Given the description of an element on the screen output the (x, y) to click on. 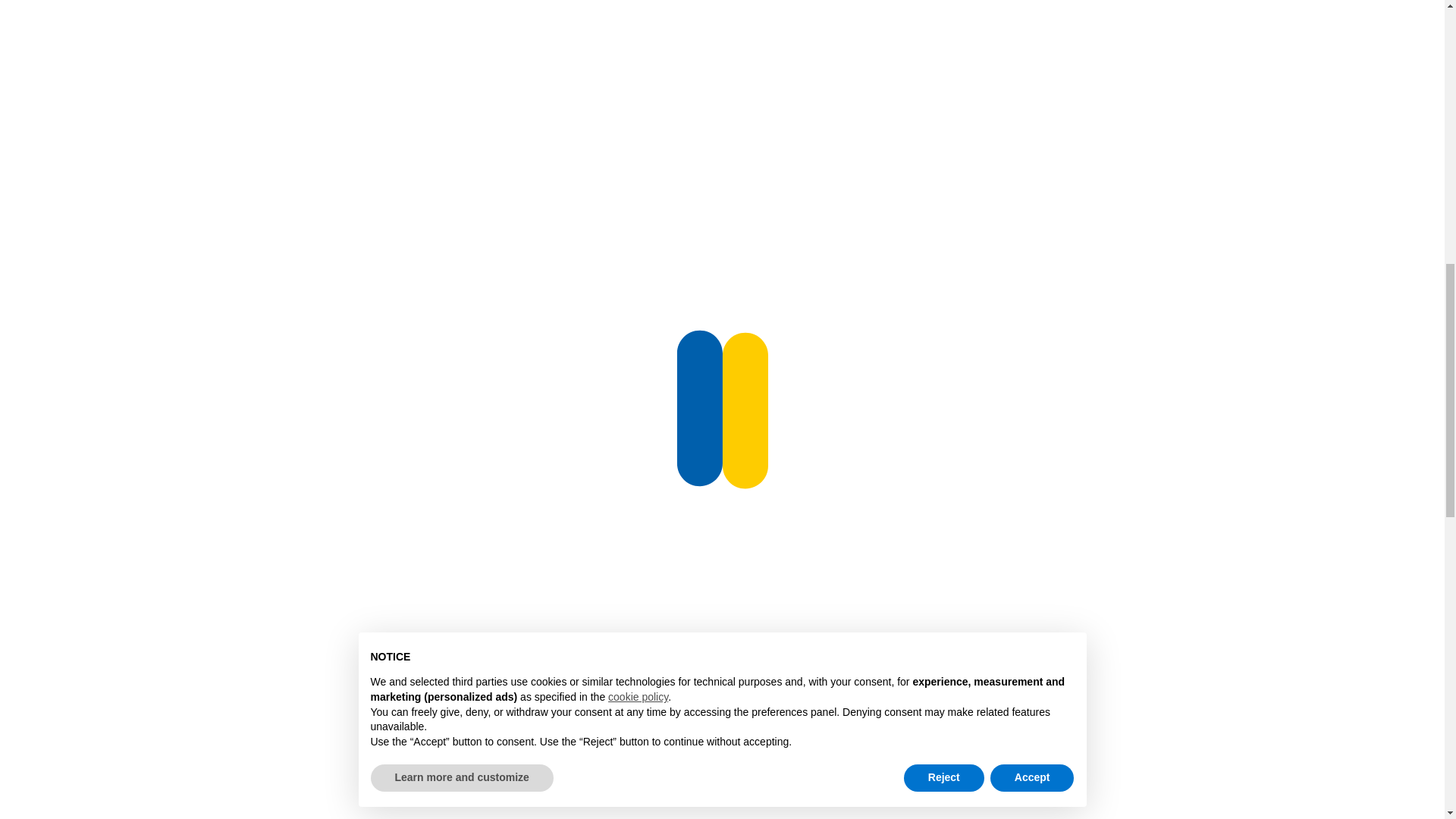
DOWNLOAD (1273, 323)
DOWNLOAD (1273, 757)
DOWNLOAD (1273, 107)
DOWNLOAD (1273, 540)
